Given the description of an element on the screen output the (x, y) to click on. 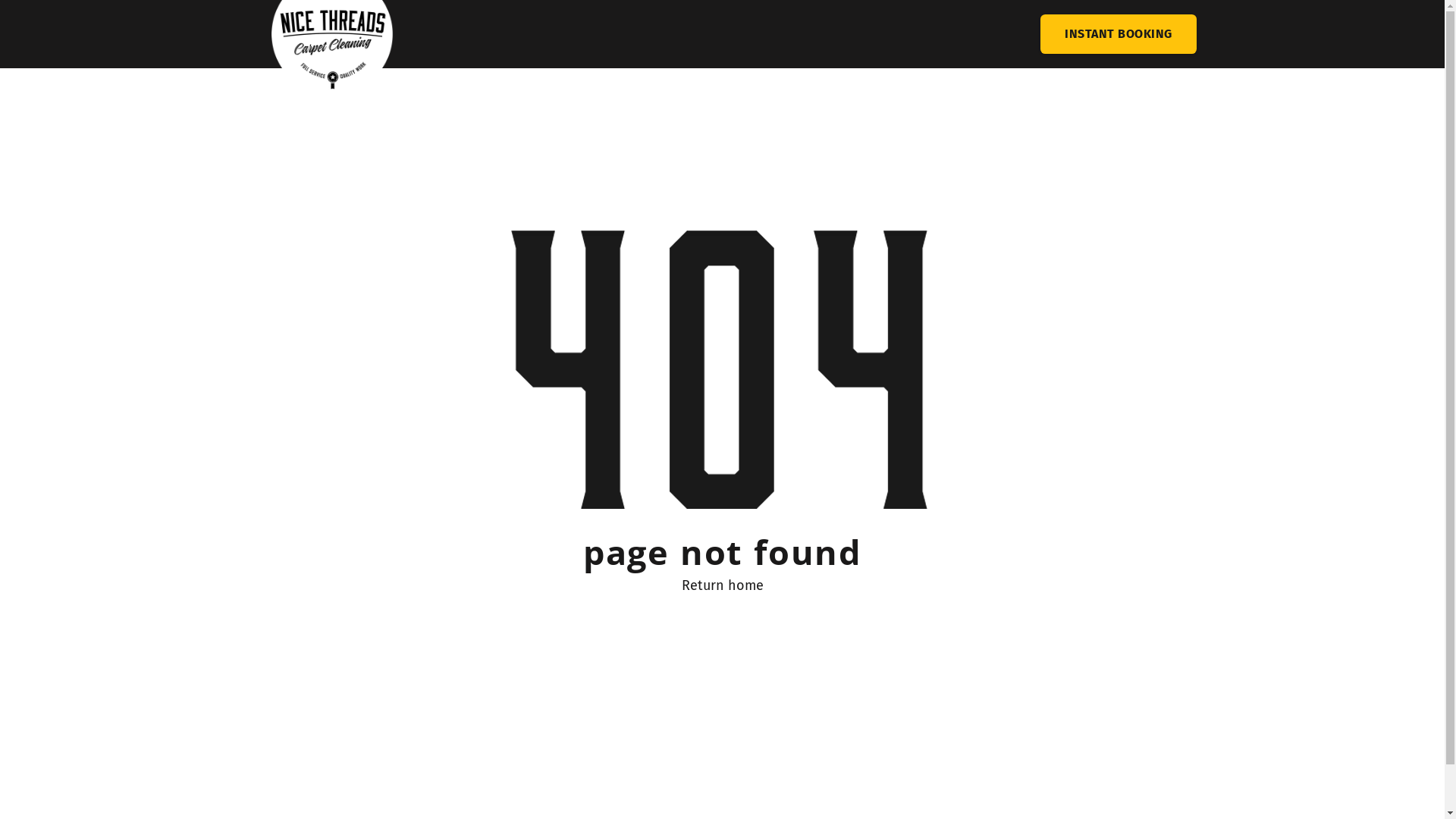
INSTANT BOOKING Element type: text (1117, 33)
Return home Element type: text (721, 585)
